Given the description of an element on the screen output the (x, y) to click on. 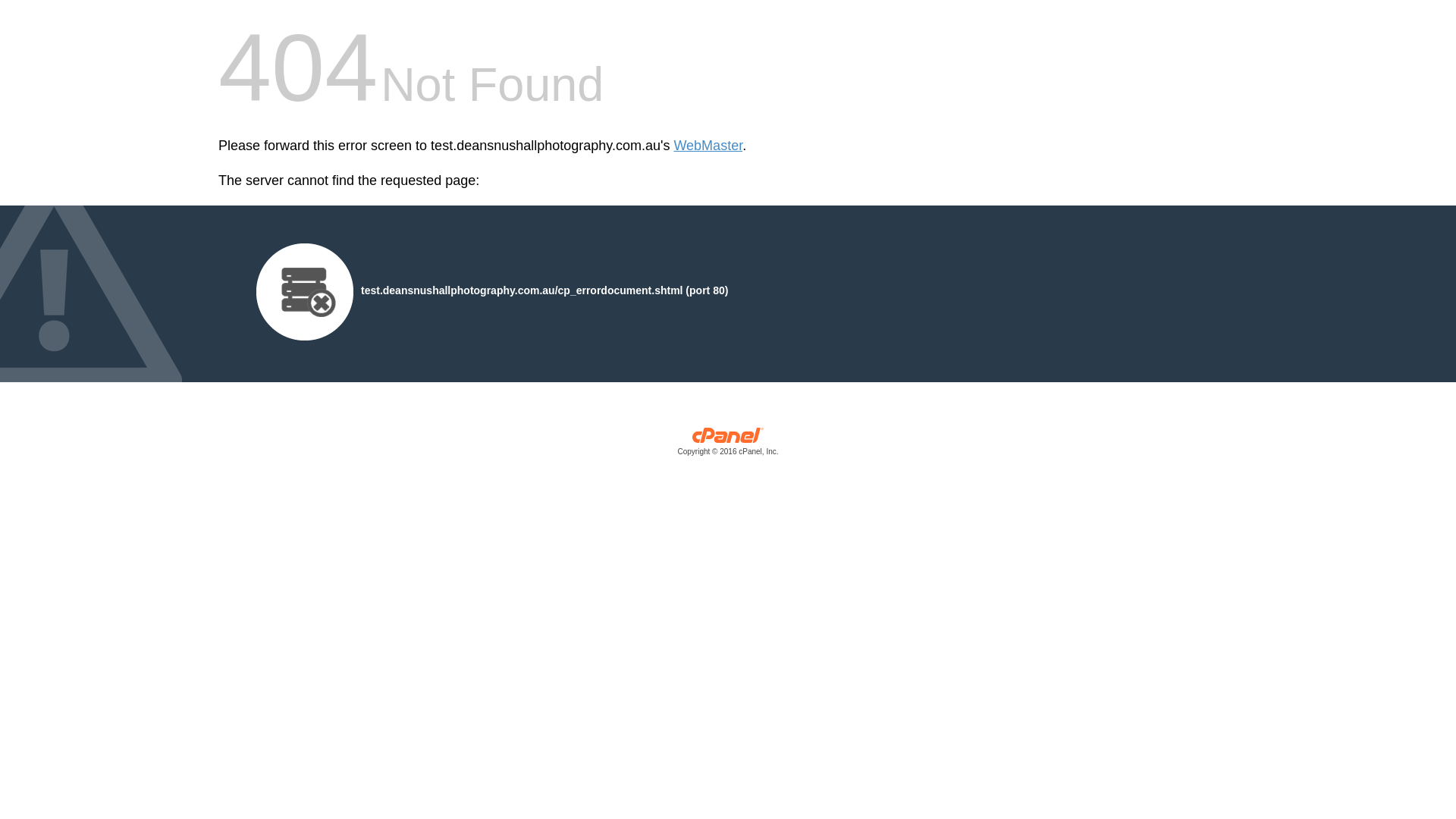
WebMaster Element type: text (707, 145)
